Given the description of an element on the screen output the (x, y) to click on. 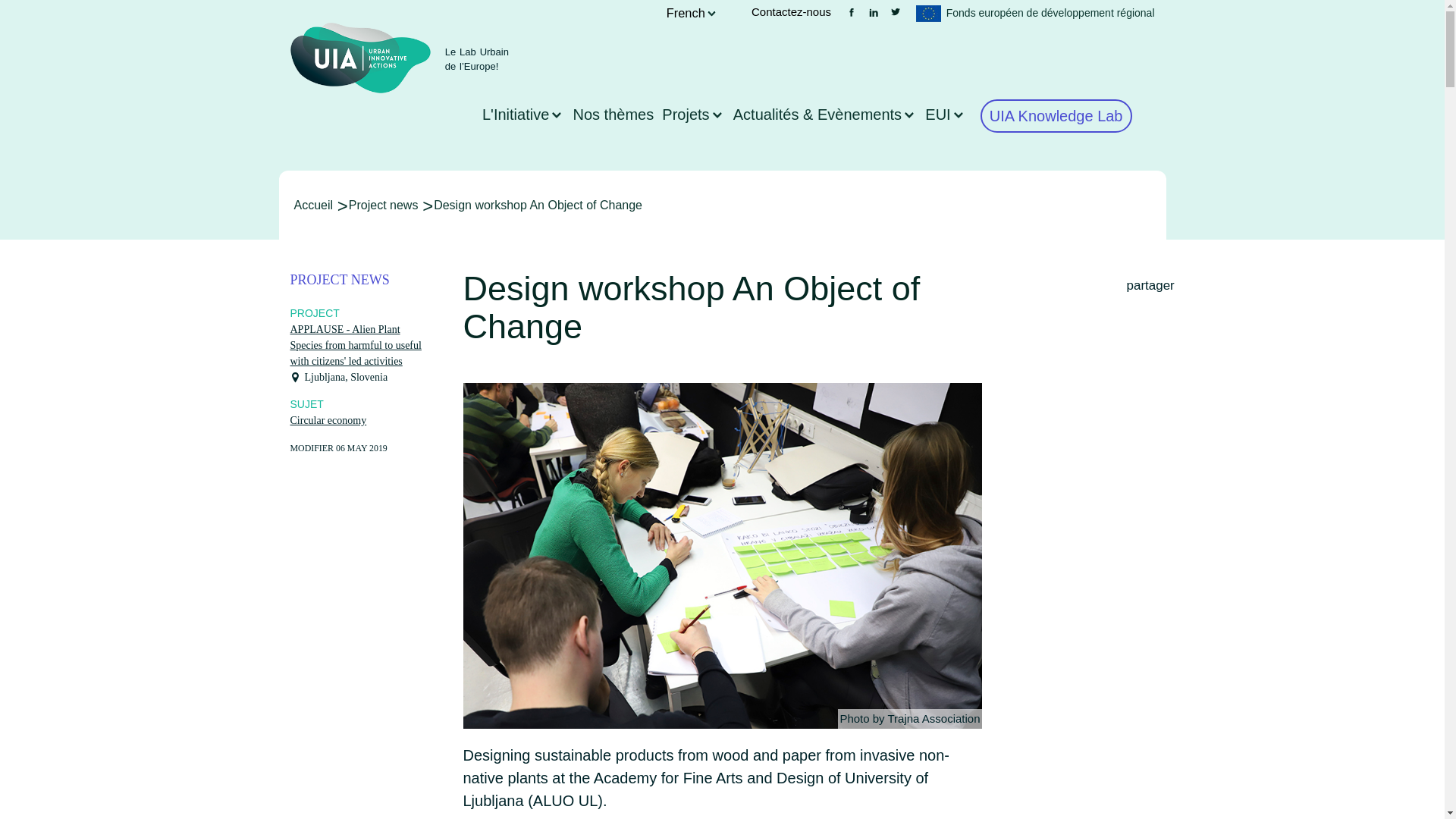
Accueil (359, 57)
Circular economy (327, 419)
Aller au contenu principal (721, 1)
Project news (384, 205)
UIA Knowledge Lab (1055, 115)
Accueil (313, 205)
